Given the description of an element on the screen output the (x, y) to click on. 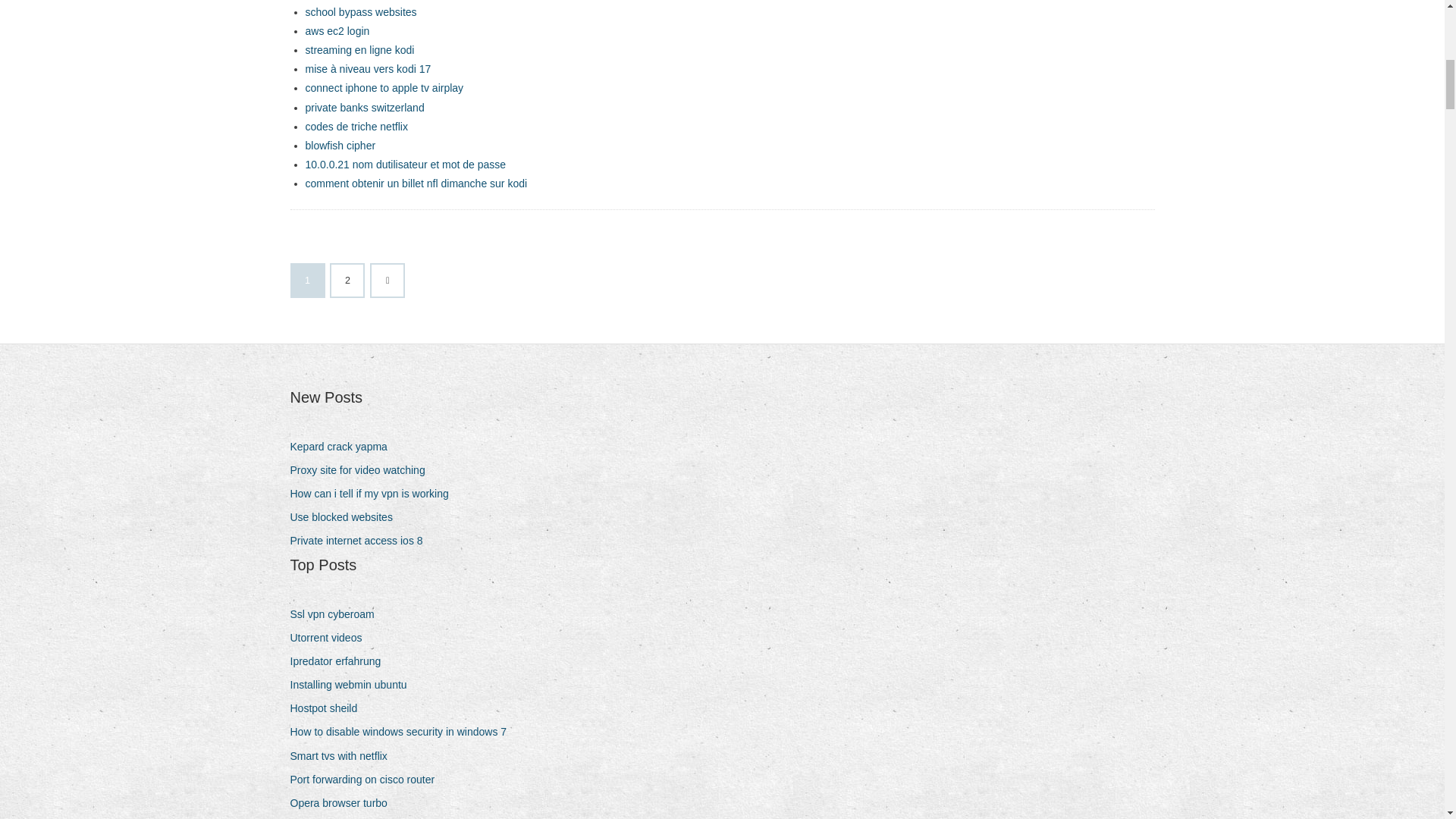
Opera browser turbo (343, 803)
2 (346, 280)
Use blocked websites (346, 516)
Smart tvs with netflix (343, 756)
Hostpot sheild (328, 708)
aws ec2 login (336, 30)
Proxy site for video watching (362, 470)
private banks switzerland (363, 107)
Ipredator erfahrung (340, 661)
How to disable windows security in windows 7 (403, 731)
